Given the description of an element on the screen output the (x, y) to click on. 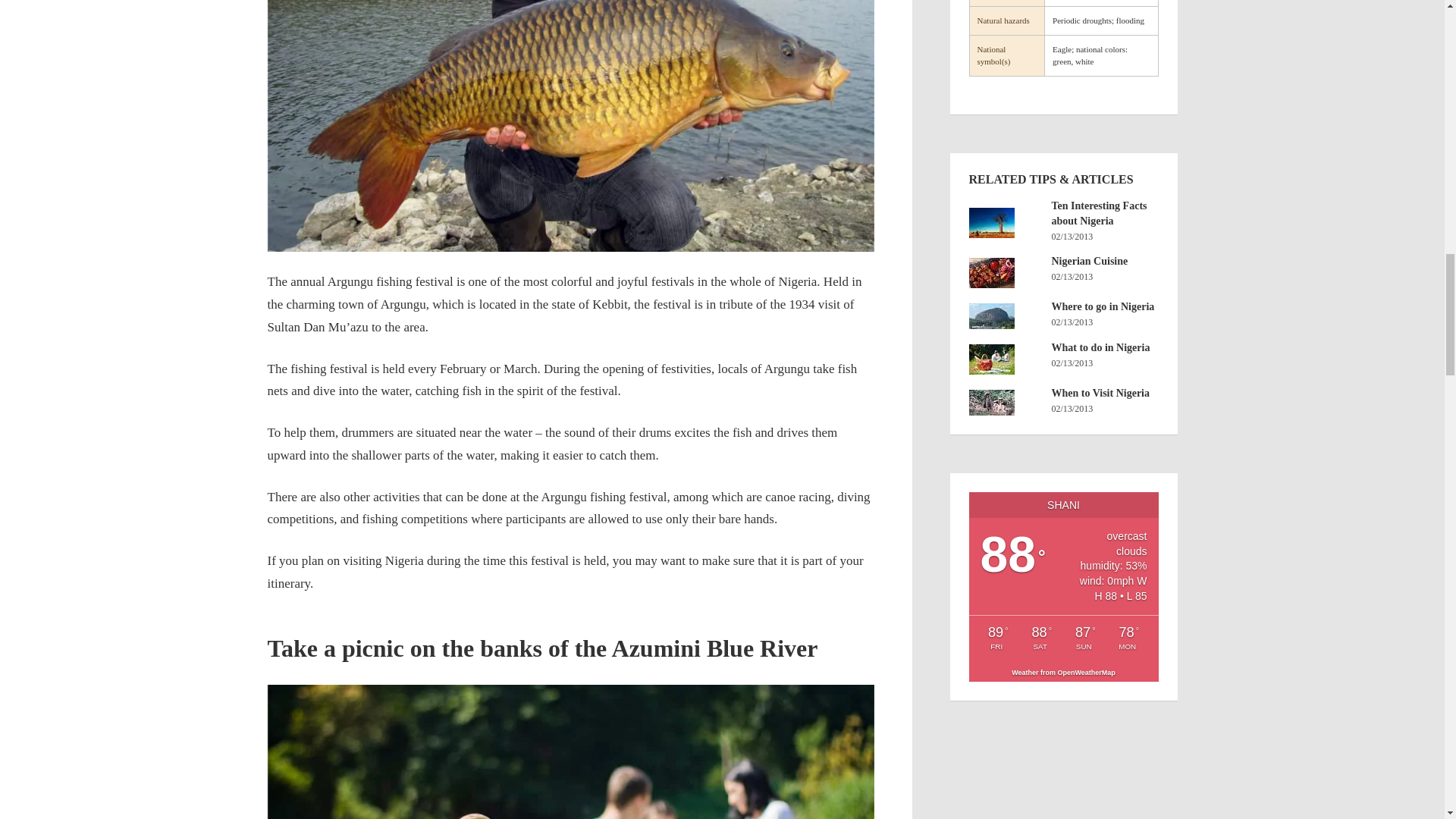
Nigerian Cuisine (1006, 272)
When to Visit Nigeria (1006, 402)
What to do in Nigeria (1006, 358)
Ten Interesting Facts about Nigeria (1006, 223)
Where to go in Nigeria (1006, 316)
